Given the description of an element on the screen output the (x, y) to click on. 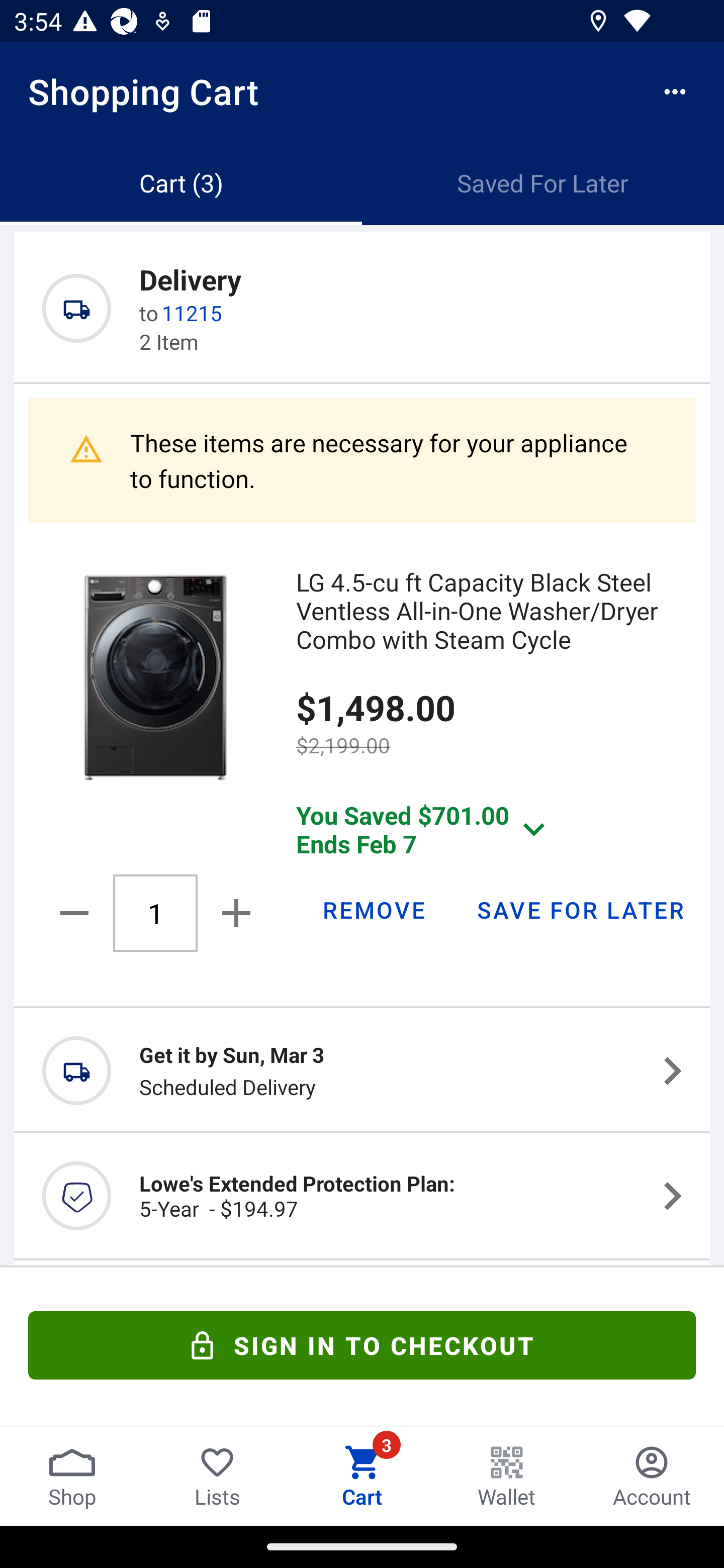
More options (674, 91)
Saved For Later (543, 183)
Delivery (190, 278)
to (148, 312)
11215 (192, 312)
You Saved $701.00
Ends Feb 7 (425, 827)
REMOVE (373, 909)
SAVE FOR LATER (580, 909)
1 (154, 912)
increase quantity (232, 913)
decrease quantity (76, 913)
Get it by Sun, Mar 3 Scheduled Delivery (361, 1070)
Lowe's Extended Protection Plan:
5-Year  - $194.97 (361, 1196)
SIGN IN TO CHECKOUT Sign In to Checkout (361, 1344)
Shop (72, 1475)
Lists (216, 1475)
Wallet (506, 1475)
Account (651, 1475)
